Given the description of an element on the screen output the (x, y) to click on. 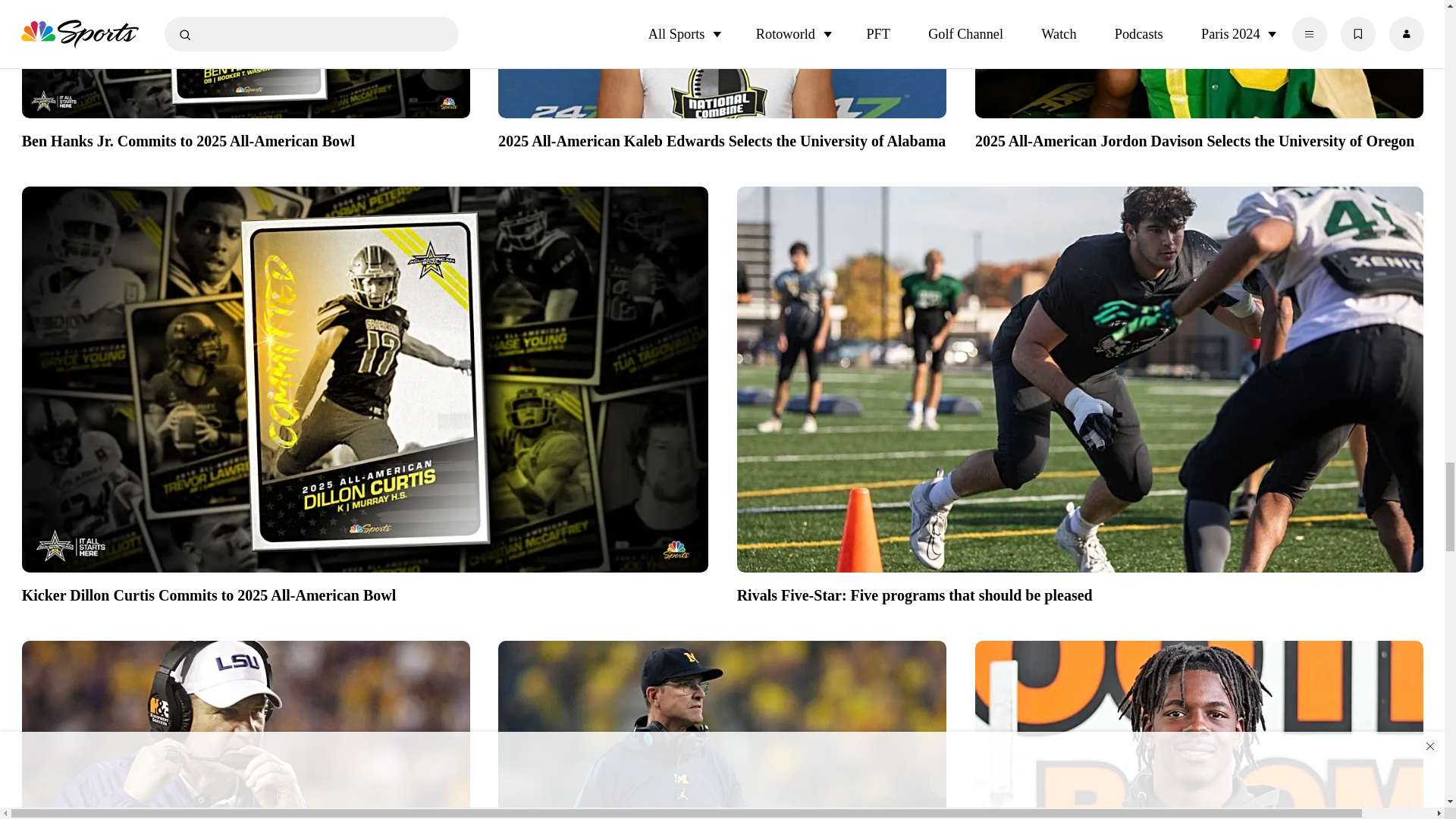
Ben Hanks Jr. Commits to 2025 All-American Bowl (245, 63)
Ben Hanks Jr. Commits to 2025 All-American Bowl (245, 137)
Kicker Dillon Curtis Commits to 2025 All-American Bowl (364, 592)
Rivals Five-Star: Five programs that should be pleased (1079, 592)
